Given the description of an element on the screen output the (x, y) to click on. 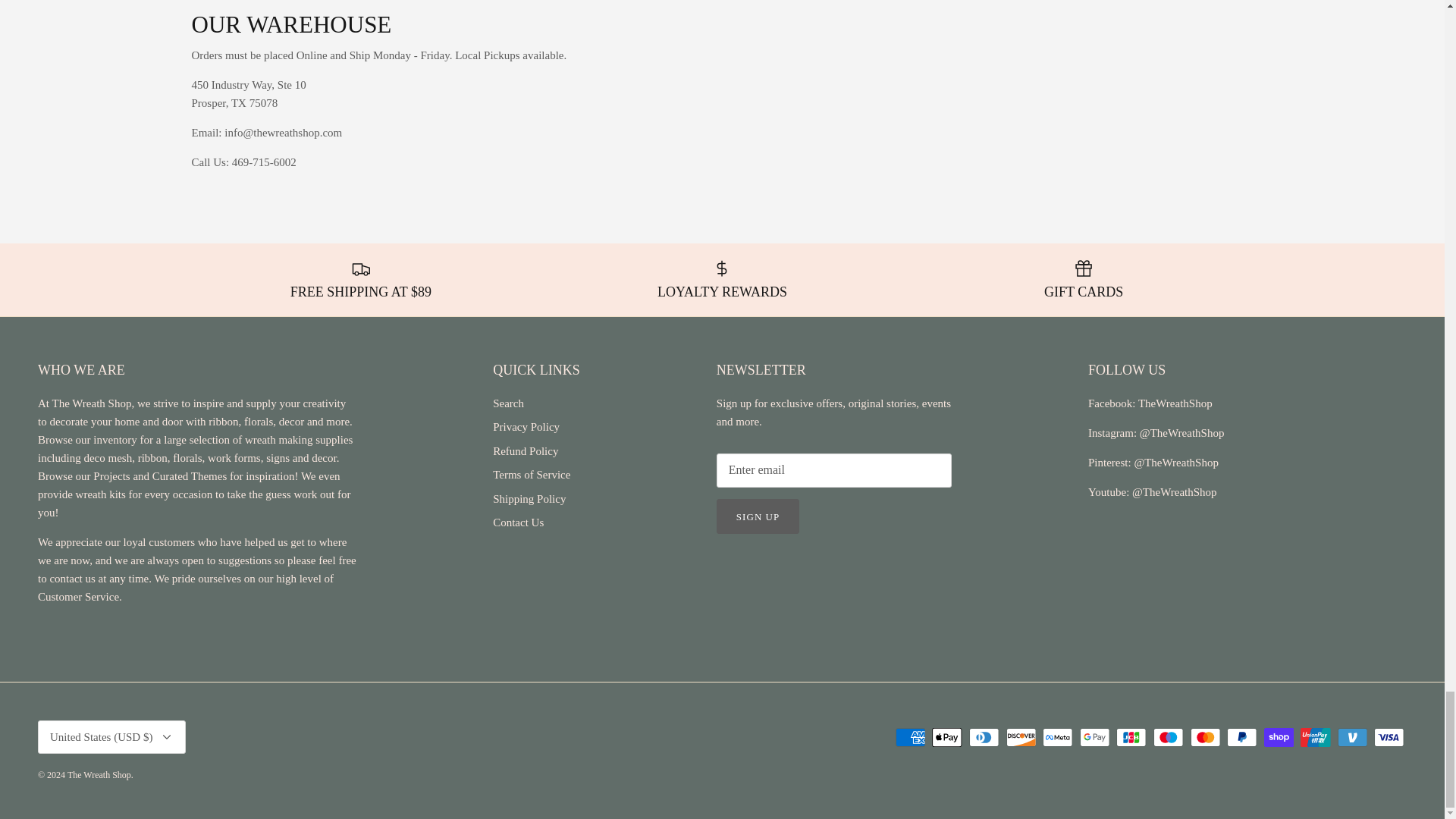
Apple Pay (946, 737)
American Express (910, 737)
Diners Club (983, 737)
